Given the description of an element on the screen output the (x, y) to click on. 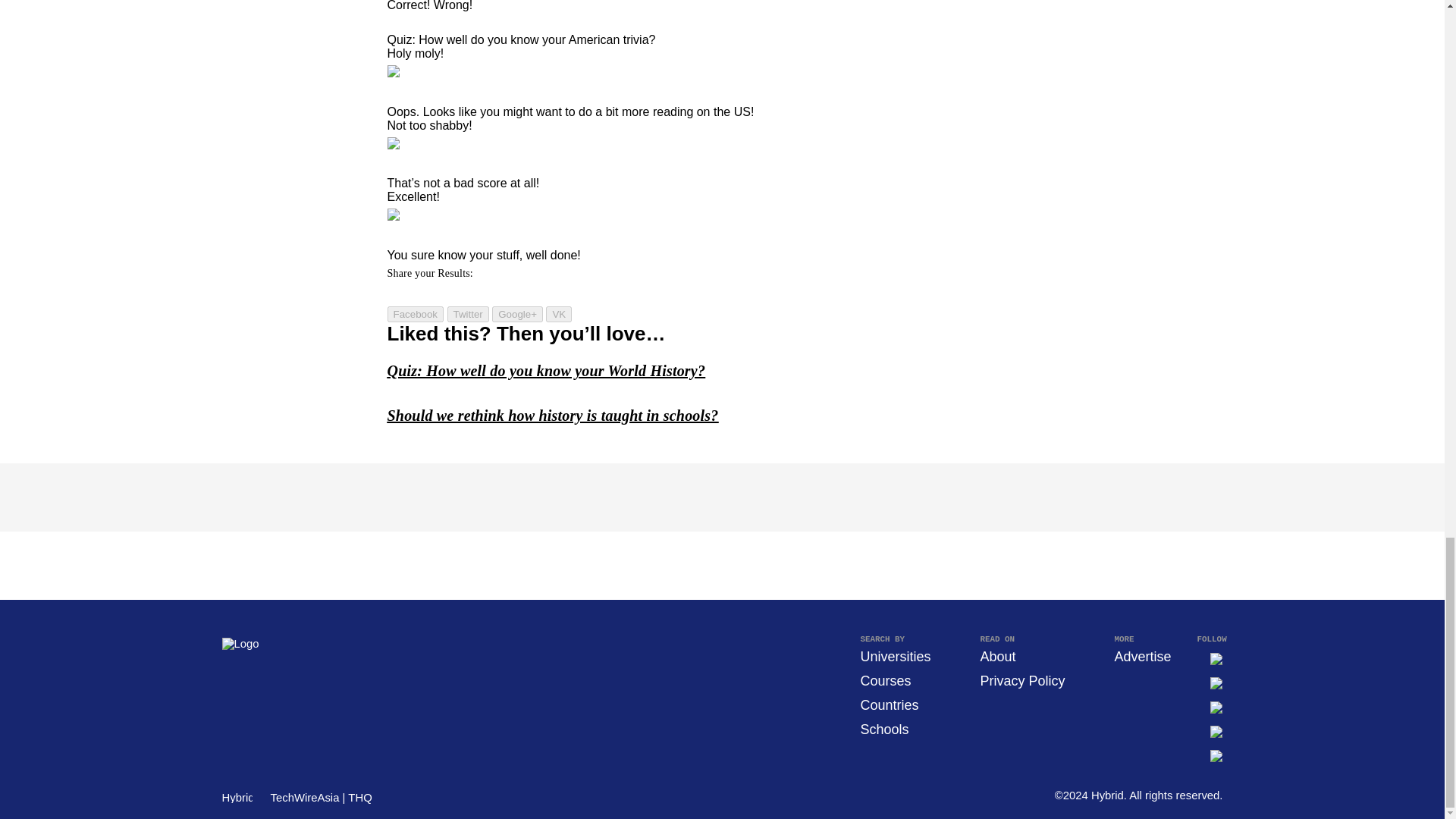
Facebook (415, 314)
VK (559, 314)
Should we rethink how history is taught in schools? (552, 415)
Twitter (467, 314)
Quiz: How well do you know your World History? (545, 370)
